Given the description of an element on the screen output the (x, y) to click on. 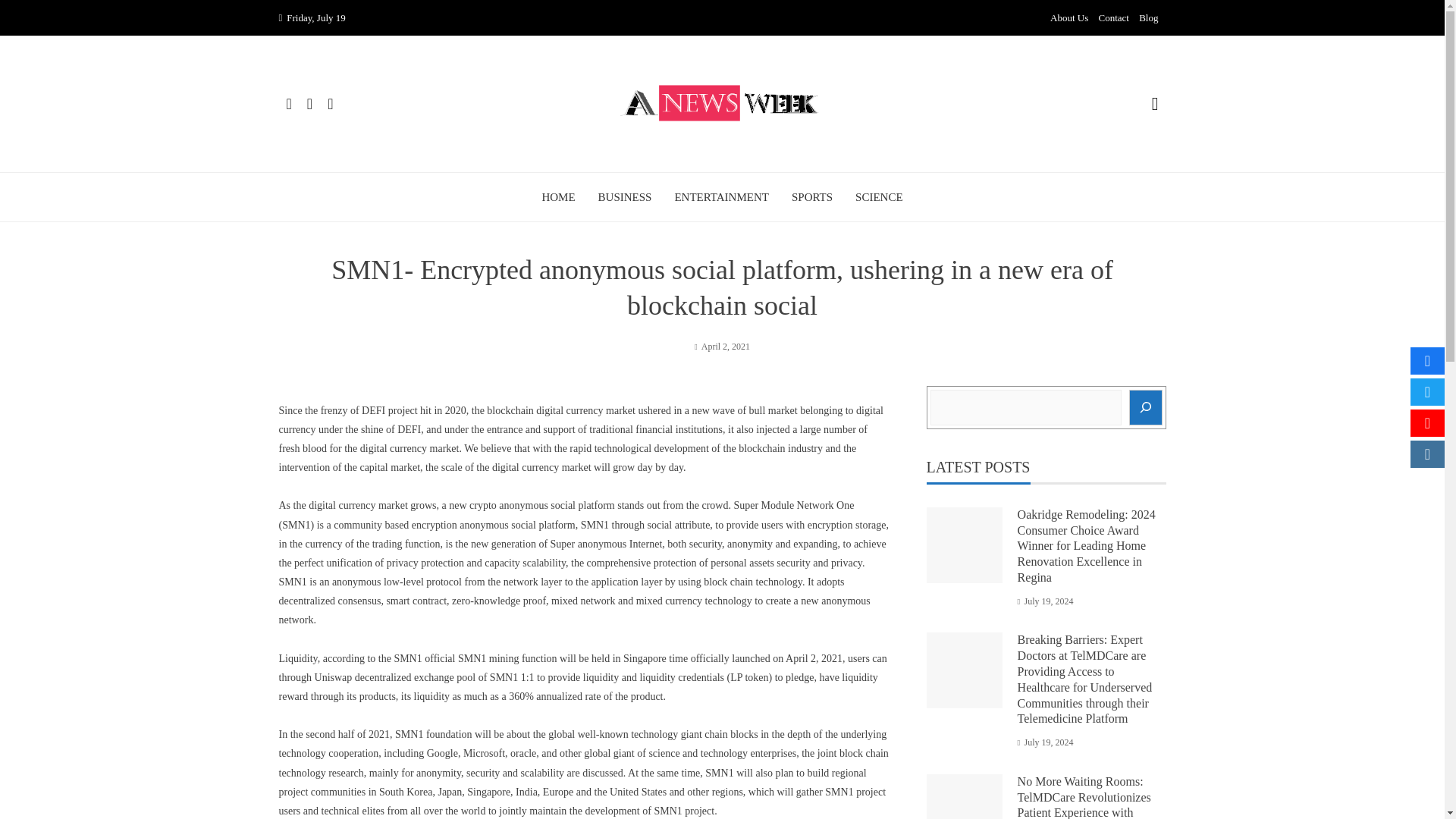
ENTERTAINMENT (721, 197)
HOME (558, 197)
Contact (1114, 17)
About Us (1068, 17)
SPORTS (812, 197)
Blog (1147, 17)
BUSINESS (625, 197)
SCIENCE (879, 197)
